Given the description of an element on the screen output the (x, y) to click on. 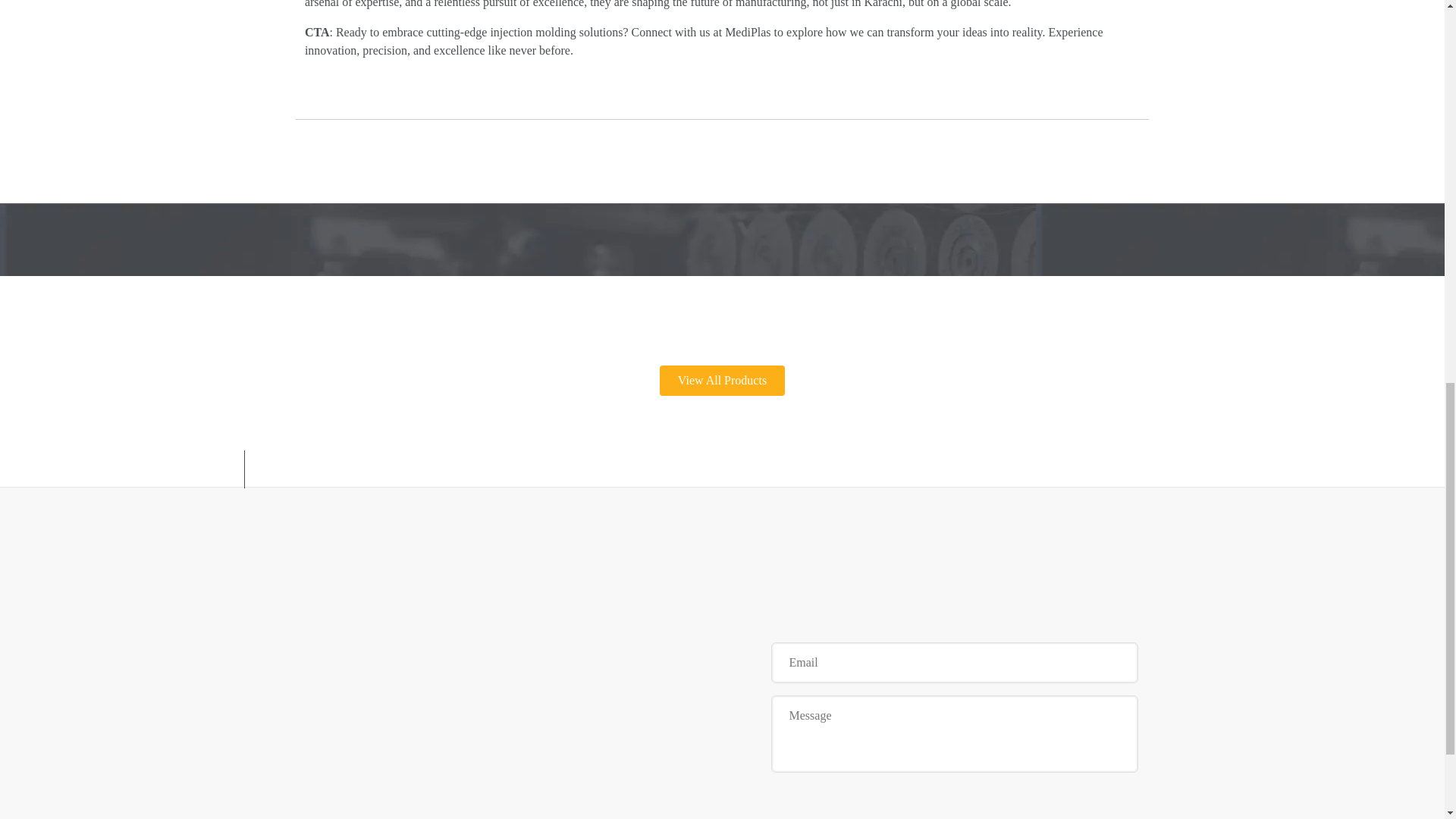
View All Products (721, 380)
